Given the description of an element on the screen output the (x, y) to click on. 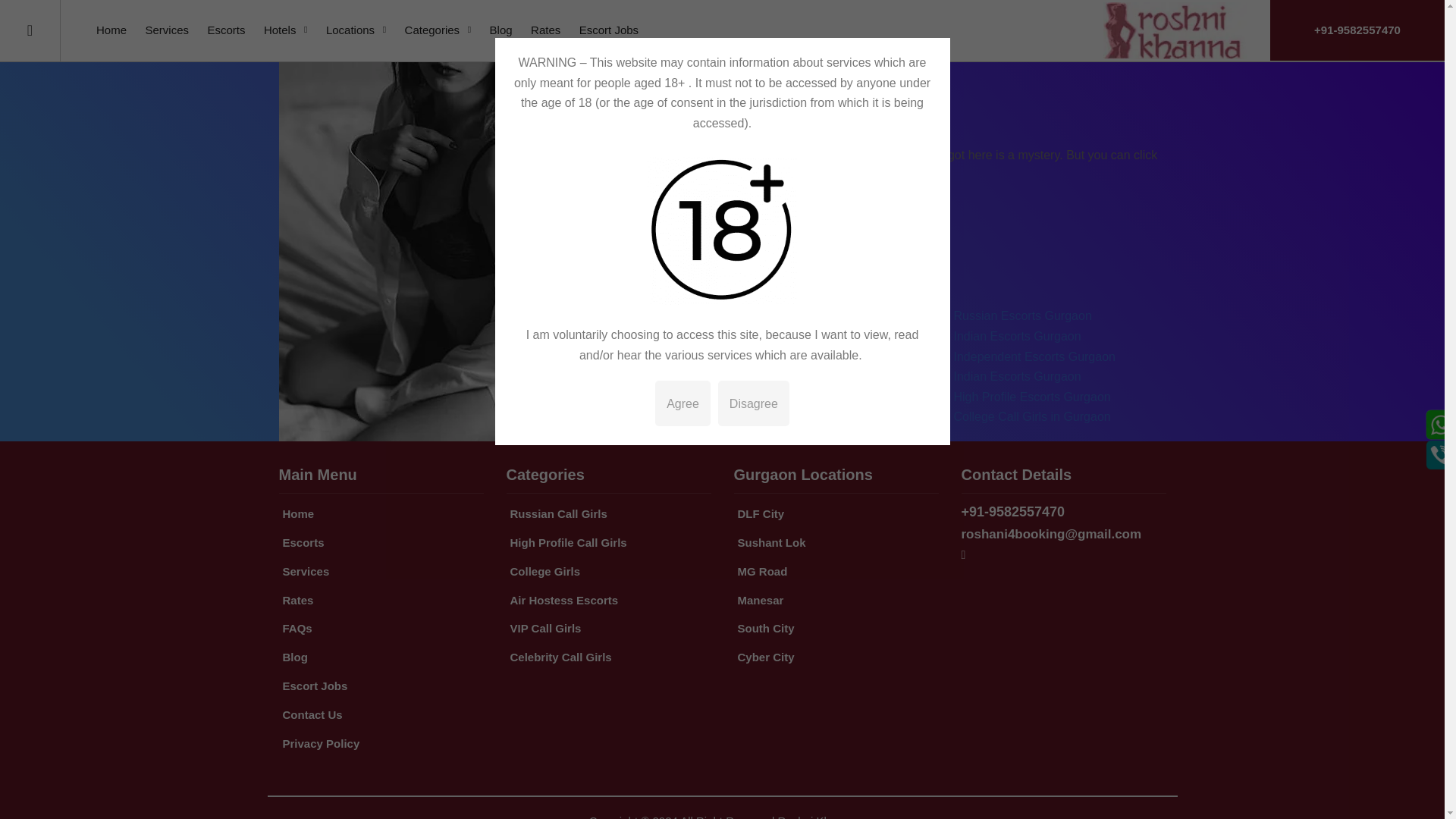
Categories (438, 30)
Services (166, 30)
Hotels (285, 30)
Locations (355, 30)
